Given the description of an element on the screen output the (x, y) to click on. 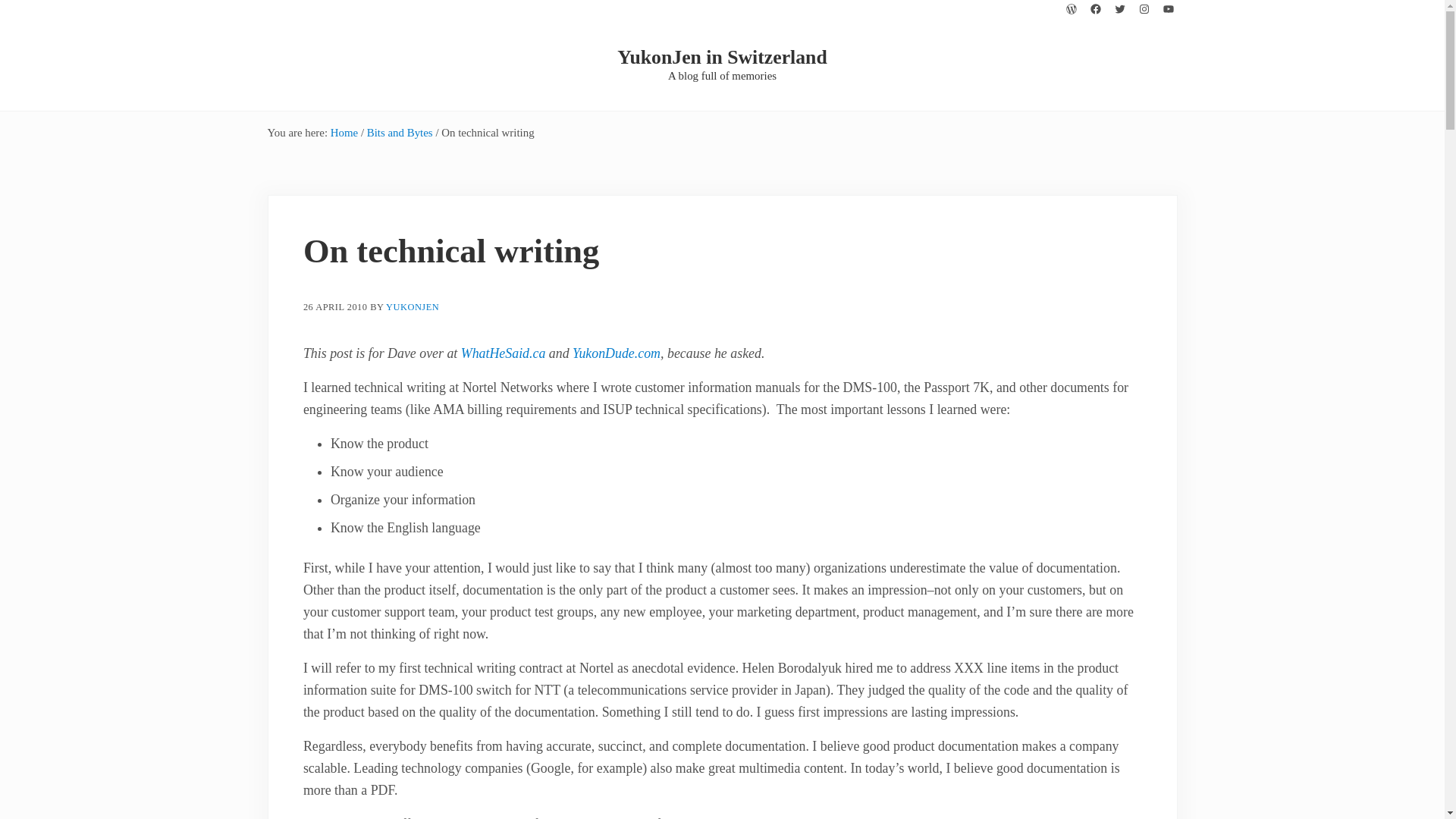
Twitter (1118, 9)
Dave Rogers : software development : web applications (503, 353)
WhatHeSaid.ca (503, 353)
YukonJen in Switzerland (722, 56)
YukonDude.com (616, 353)
YouTube (1167, 9)
YUKONJEN (412, 307)
Instagram (1143, 9)
WordPress (1070, 9)
Home (344, 132)
Facebook (1094, 9)
Dave Rogers : software development : web applications (616, 353)
Bits and Bytes (399, 132)
